Given the description of an element on the screen output the (x, y) to click on. 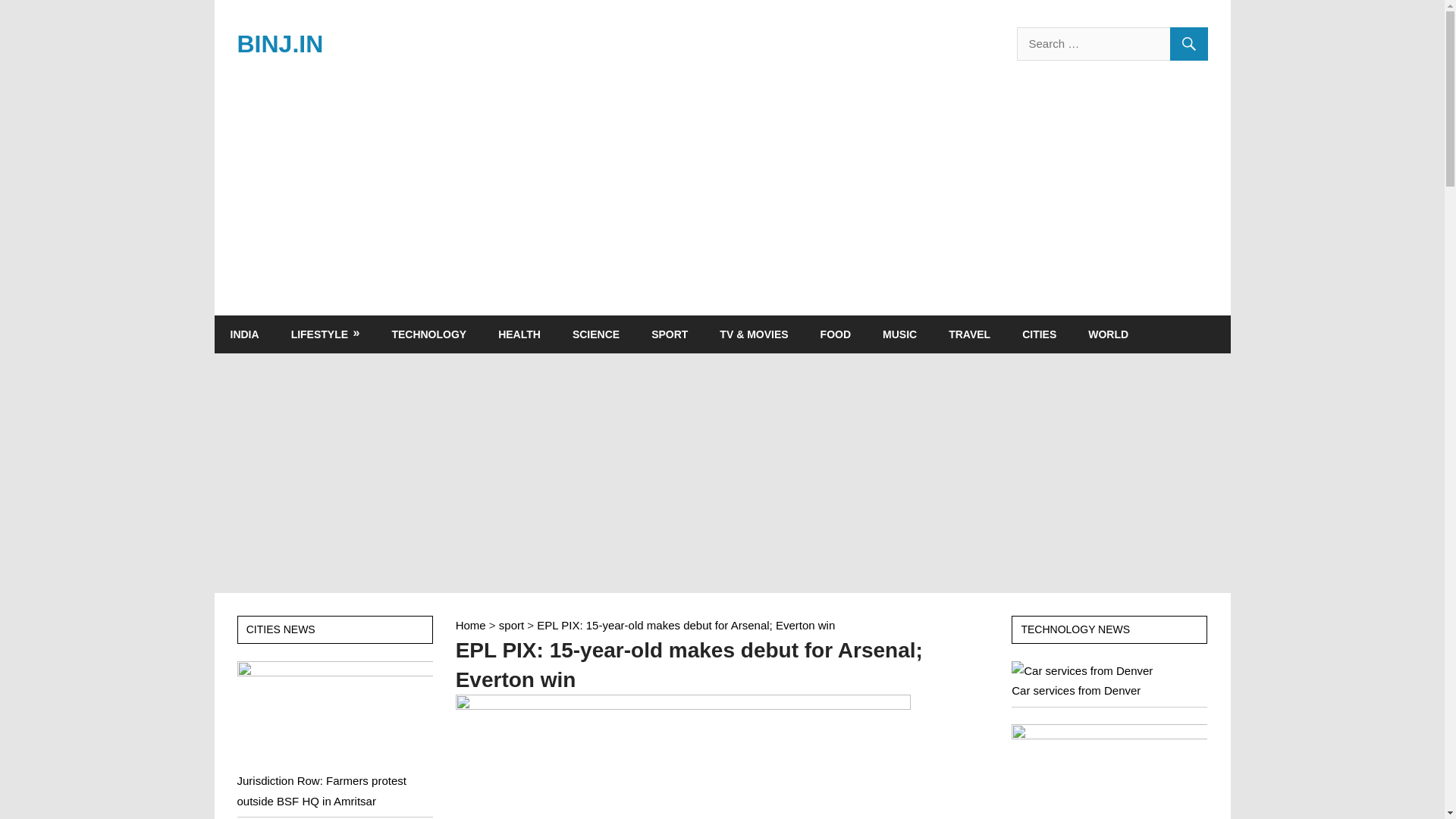
CITIES (1038, 333)
WORLD (1107, 333)
Search for: (1111, 43)
SCIENCE (595, 333)
TECHNOLOGY (428, 333)
SPORT (668, 333)
